Given the description of an element on the screen output the (x, y) to click on. 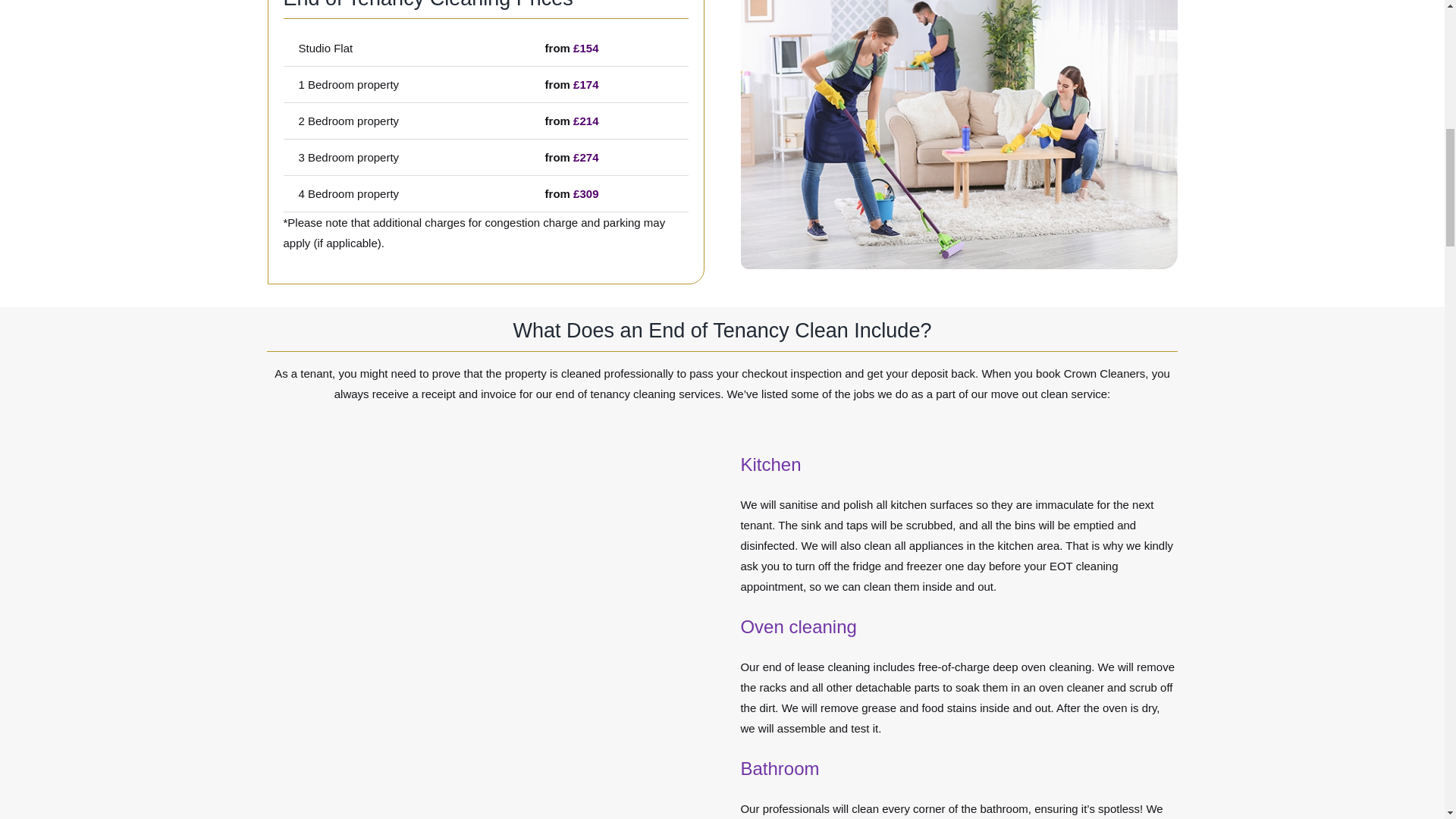
end-of-lease-cleaning-homepage (957, 134)
